Given the description of an element on the screen output the (x, y) to click on. 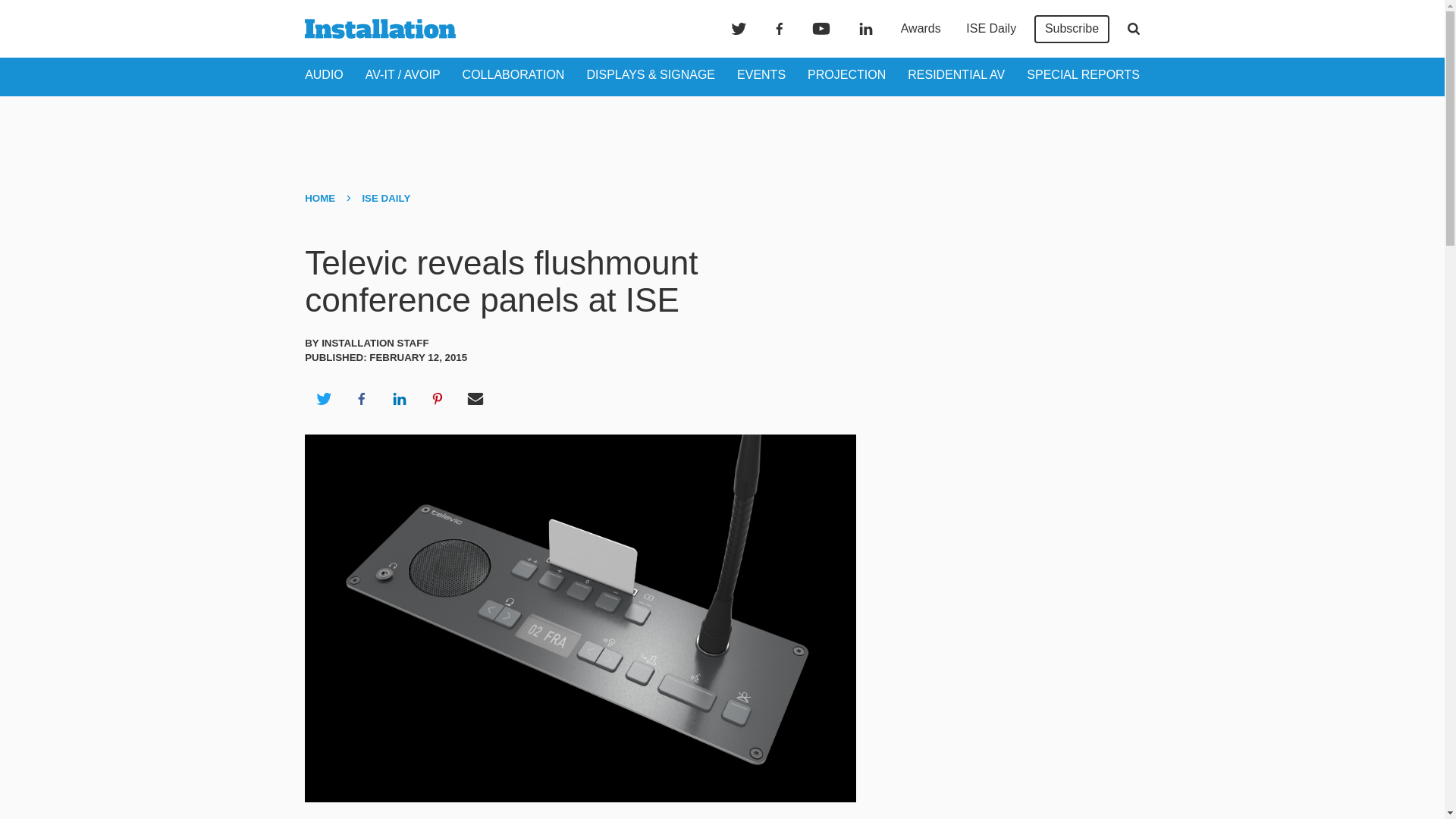
Installation Staff's Author Profile (374, 342)
Awards (921, 29)
COLLABORATION (513, 74)
Share via Email (476, 398)
Share on Twitter (323, 398)
Share on Pinterest (438, 398)
Subscribe (1071, 29)
AUDIO (323, 74)
ISE Daily (990, 29)
Share on Facebook (361, 398)
